Given the description of an element on the screen output the (x, y) to click on. 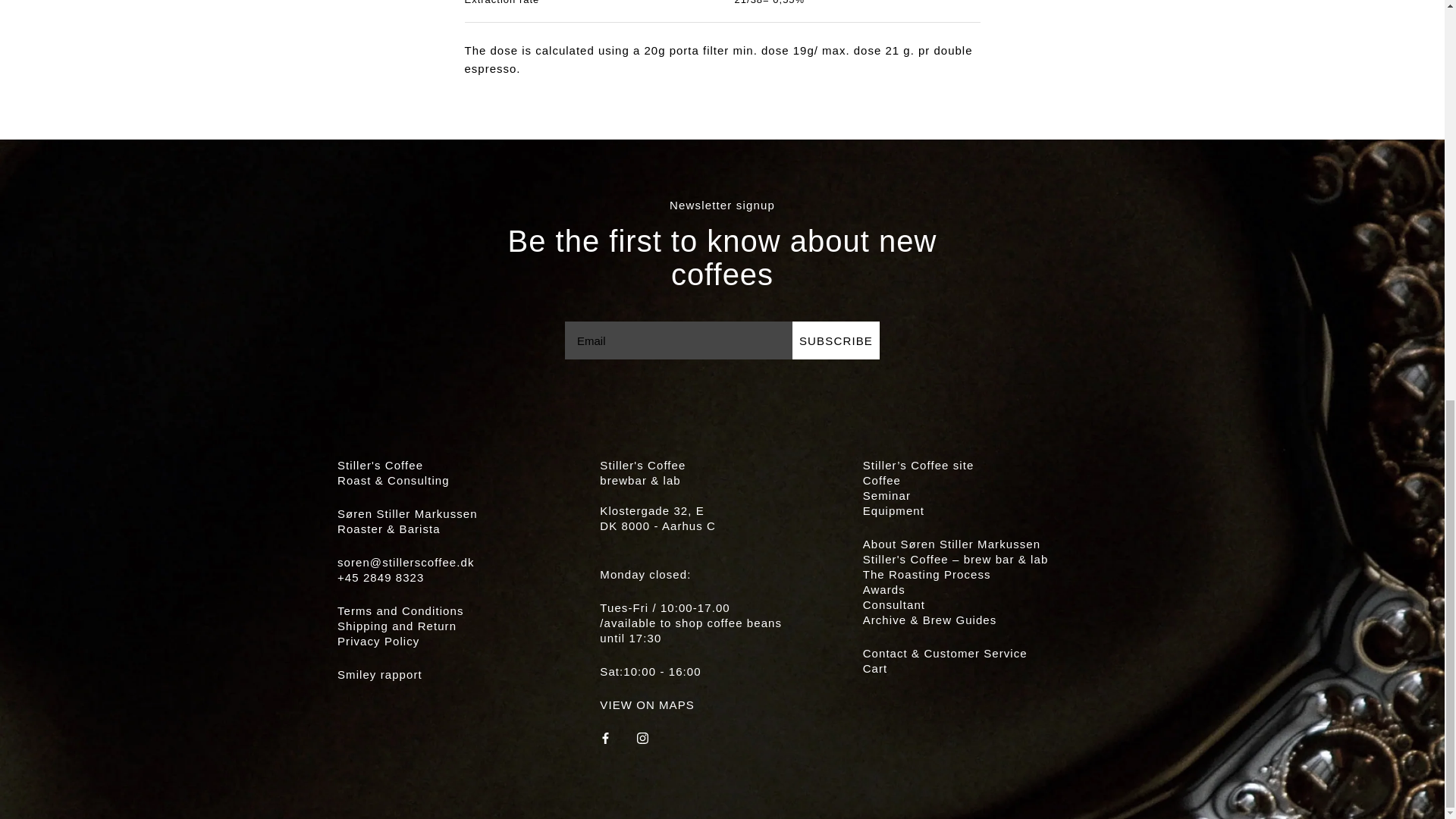
The Roasting Process (927, 574)
Coffee (882, 480)
Awards (884, 589)
Shipping and Return (397, 625)
Seminar (887, 495)
Terms and Conditions (400, 610)
Equipment (893, 510)
Consultant (893, 604)
Contact (945, 653)
SUBSCRIBE (835, 340)
